Given the description of an element on the screen output the (x, y) to click on. 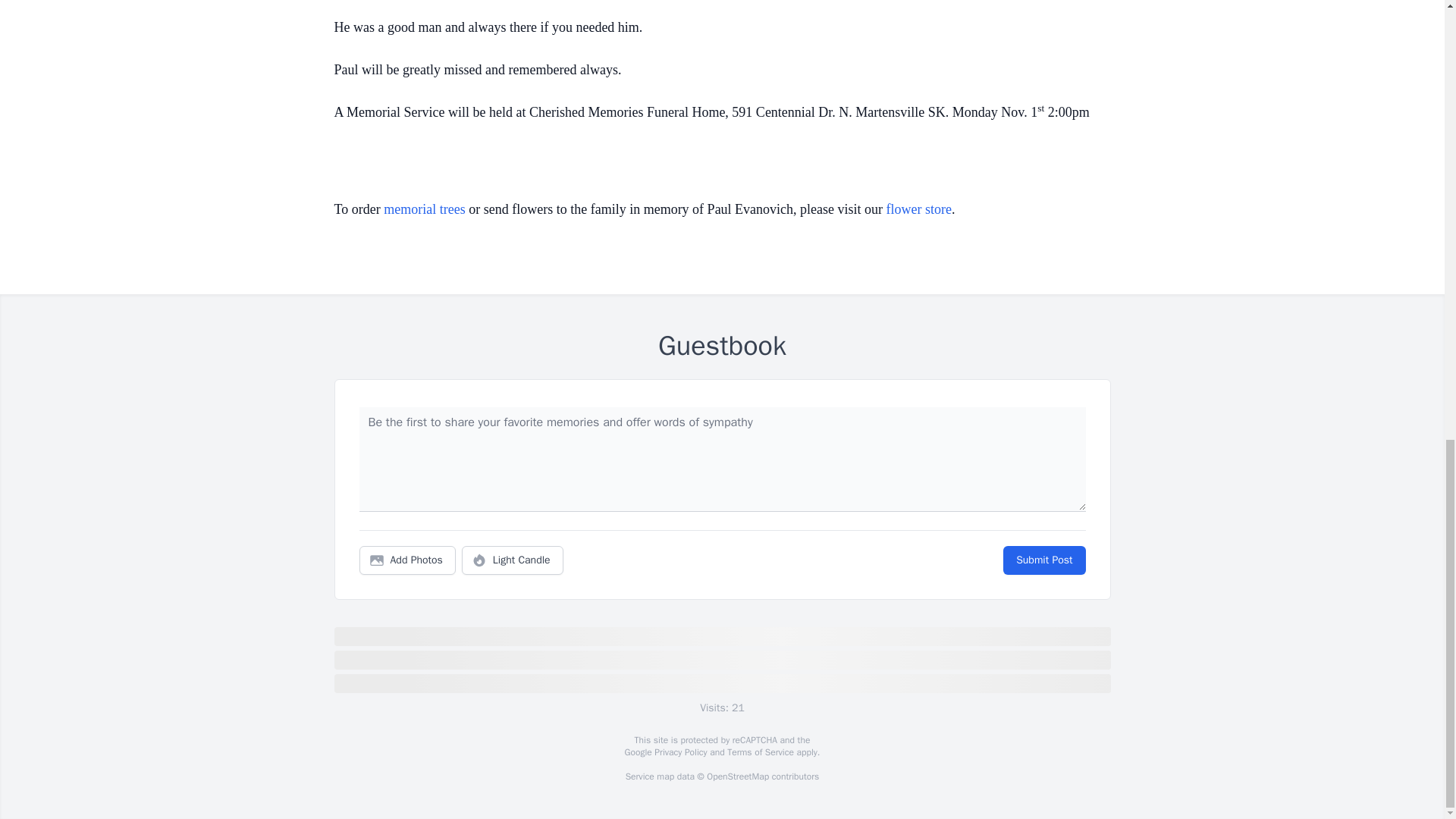
Light Candle (512, 560)
Add Photos (407, 560)
flower store (919, 209)
Privacy Policy (679, 752)
Terms of Service (759, 752)
memorial trees (424, 209)
OpenStreetMap (737, 776)
Submit Post (1043, 560)
